Given the description of an element on the screen output the (x, y) to click on. 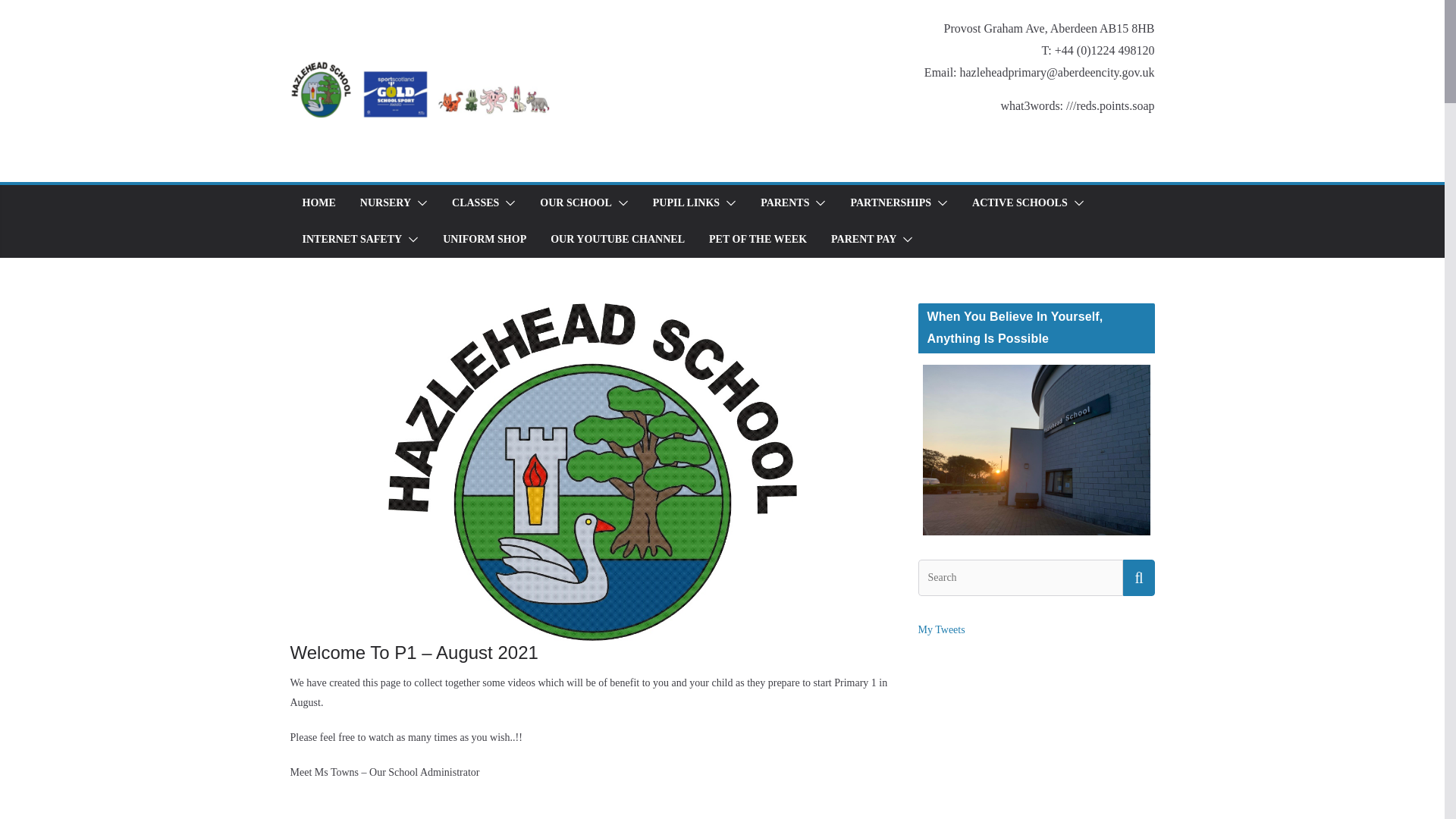
HOME (317, 202)
CLASSES (475, 202)
OUR SCHOOL (575, 202)
NURSERY (384, 202)
